Given the description of an element on the screen output the (x, y) to click on. 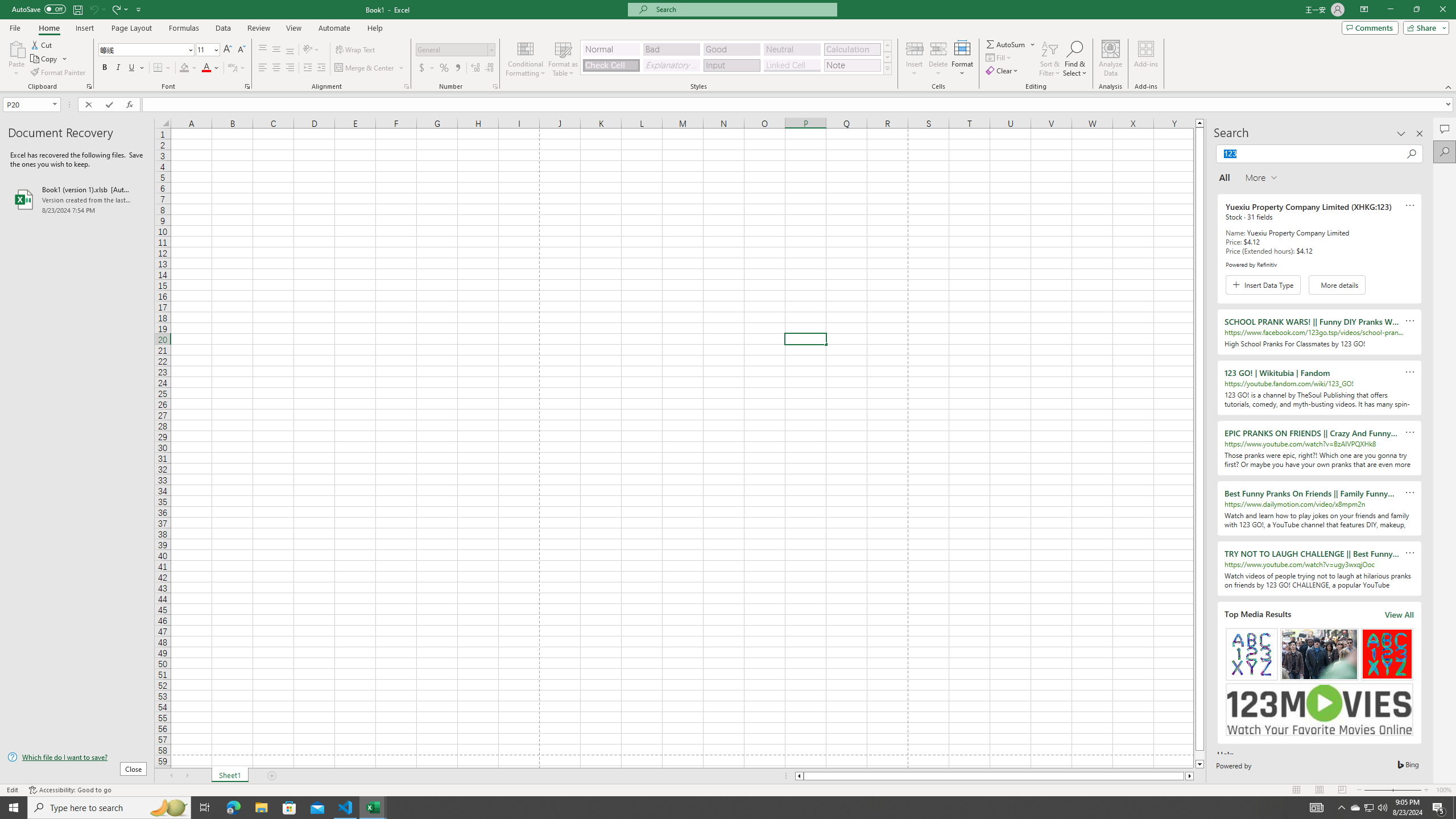
Show Phonetic Field (231, 67)
Align Right (290, 67)
Row Down (887, 56)
Number Format (455, 49)
Task Pane Options (1400, 133)
Underline (136, 67)
Font Color (210, 67)
Accounting Number Format (422, 67)
Italic (118, 67)
Percent Style (443, 67)
Bad (671, 49)
Format Painter (58, 72)
